Given the description of an element on the screen output the (x, y) to click on. 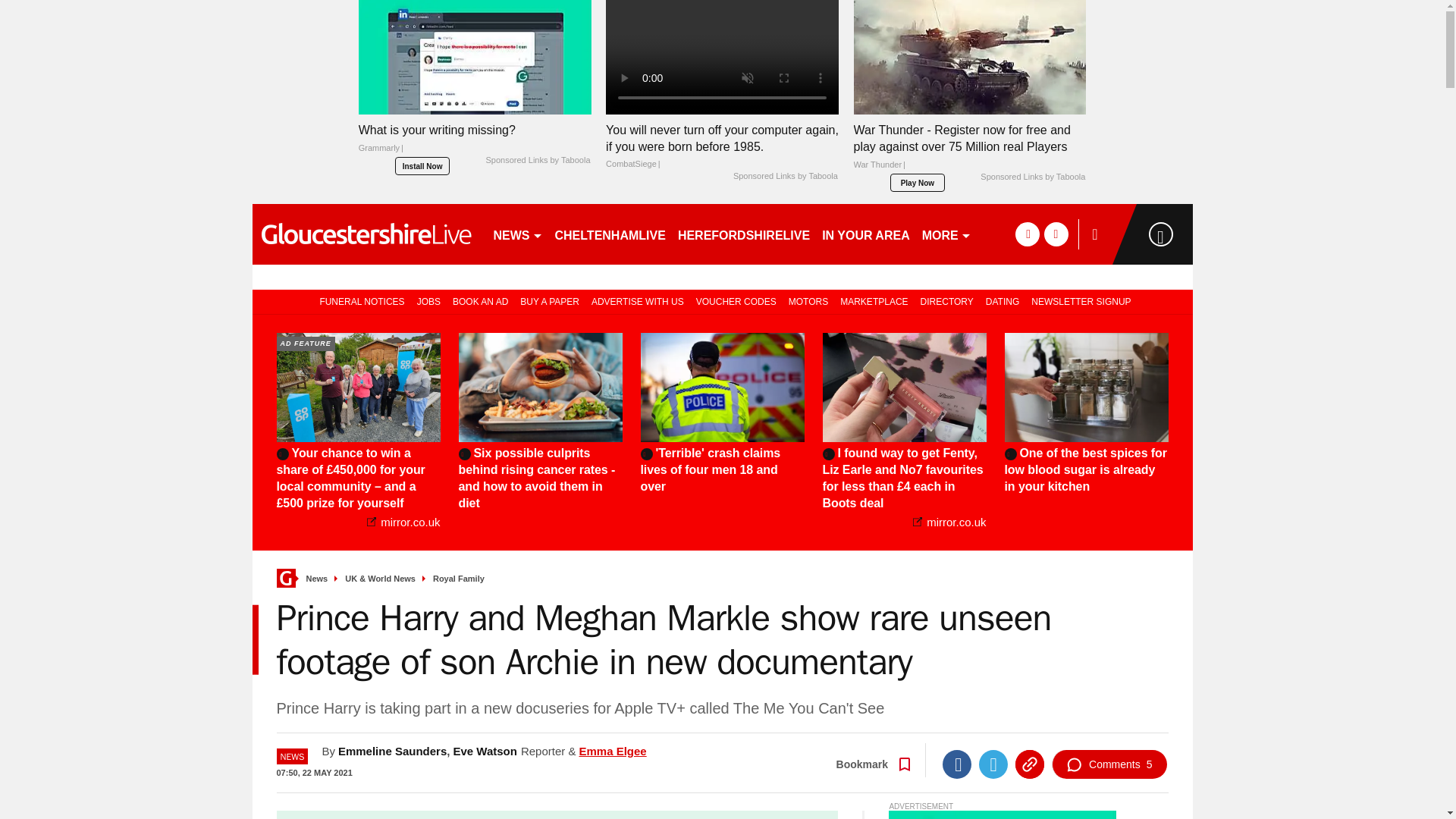
Comments (1108, 764)
Sponsored Links by Taboola (1031, 176)
What is your writing missing? (474, 57)
facebook (1026, 233)
NEWS (517, 233)
Play Now (916, 182)
Install Now (421, 166)
Sponsored Links by Taboola (536, 160)
gloucestershirelive (365, 233)
MORE (945, 233)
What is your writing missing? (474, 143)
